Given the description of an element on the screen output the (x, y) to click on. 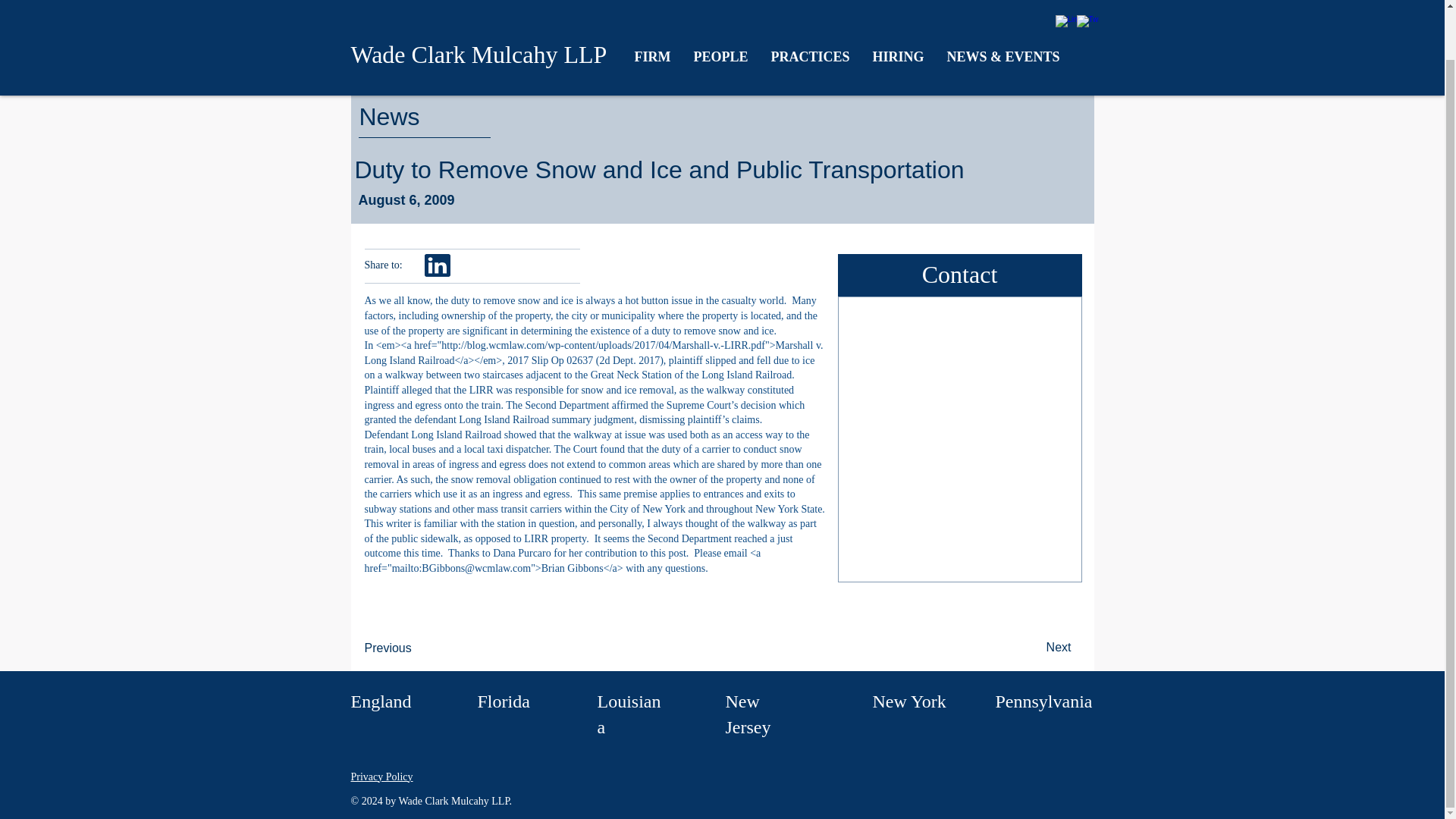
FIRM (652, 7)
Privacy Policy (381, 776)
Wade Clark Mulcahy LLP (478, 7)
New Jersey (747, 714)
Previous (414, 648)
HIRING (898, 7)
Next (1032, 647)
Pennsylvania (1043, 701)
England (380, 701)
New York (908, 701)
